Given the description of an element on the screen output the (x, y) to click on. 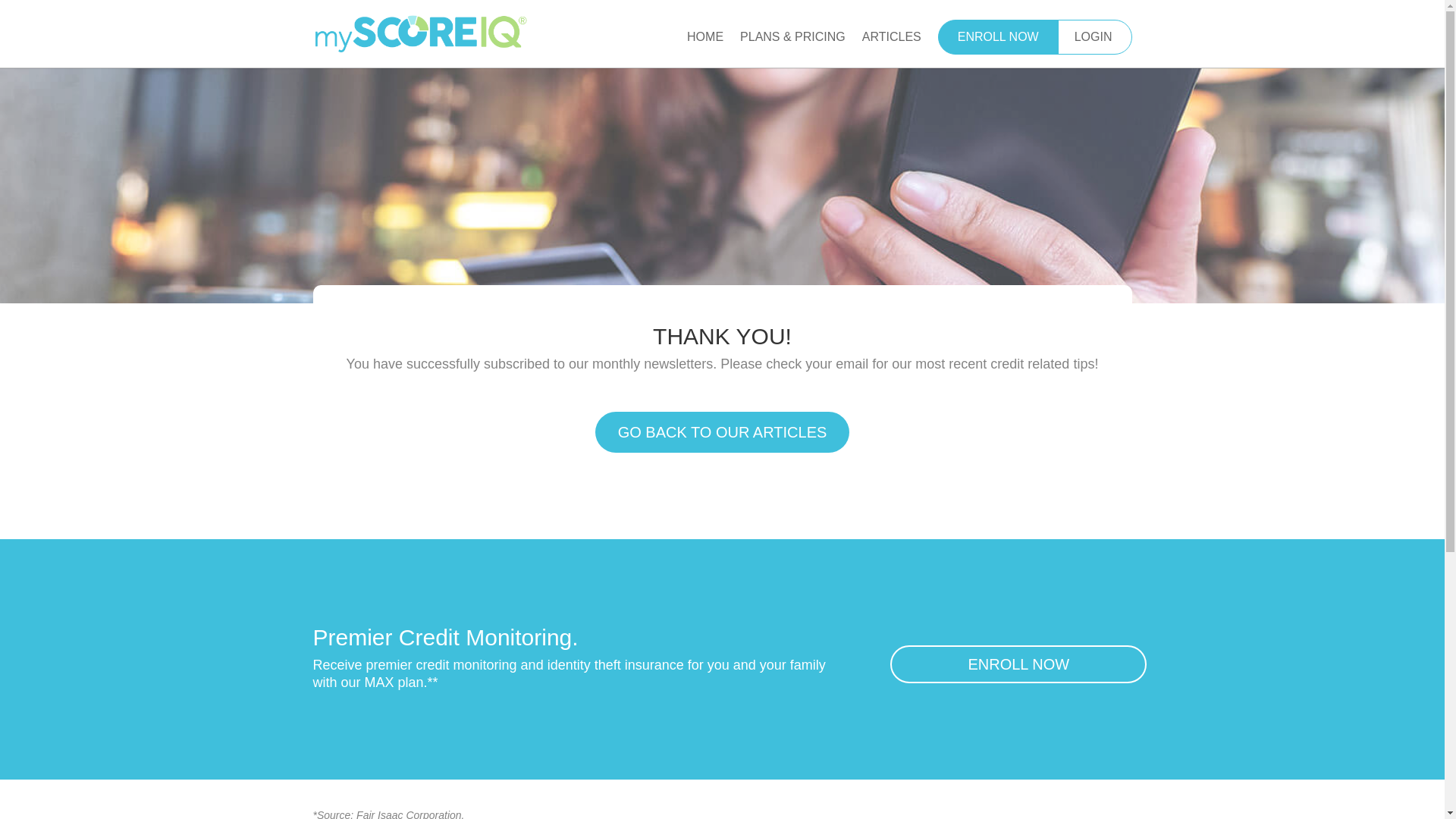
LOGIN (1093, 36)
HOME (705, 49)
GO BACK TO OUR ARTICLES (722, 431)
ARTICLES (891, 49)
ENROLL NOW (1018, 664)
ENROLL NOW (997, 36)
